Given the description of an element on the screen output the (x, y) to click on. 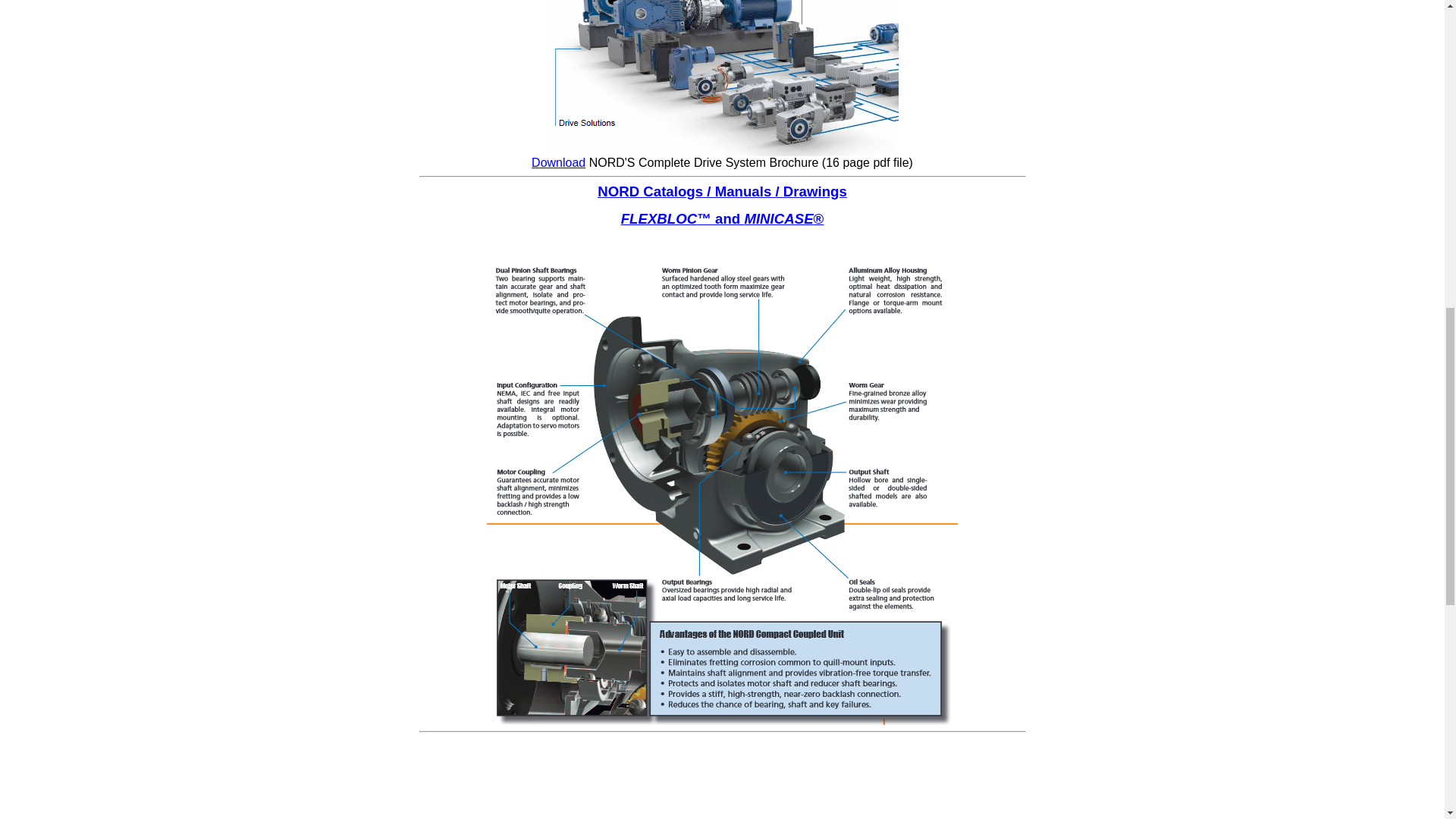
Nord Complete Drives Systems (558, 162)
Nord Flexbloc and Minicase (659, 218)
Nord Gear Flexbloc (722, 218)
Download (558, 162)
Nord Gear Complete Drive Systems (722, 151)
Nord Gear Flexbloc and Minicase (722, 720)
